Given the description of an element on the screen output the (x, y) to click on. 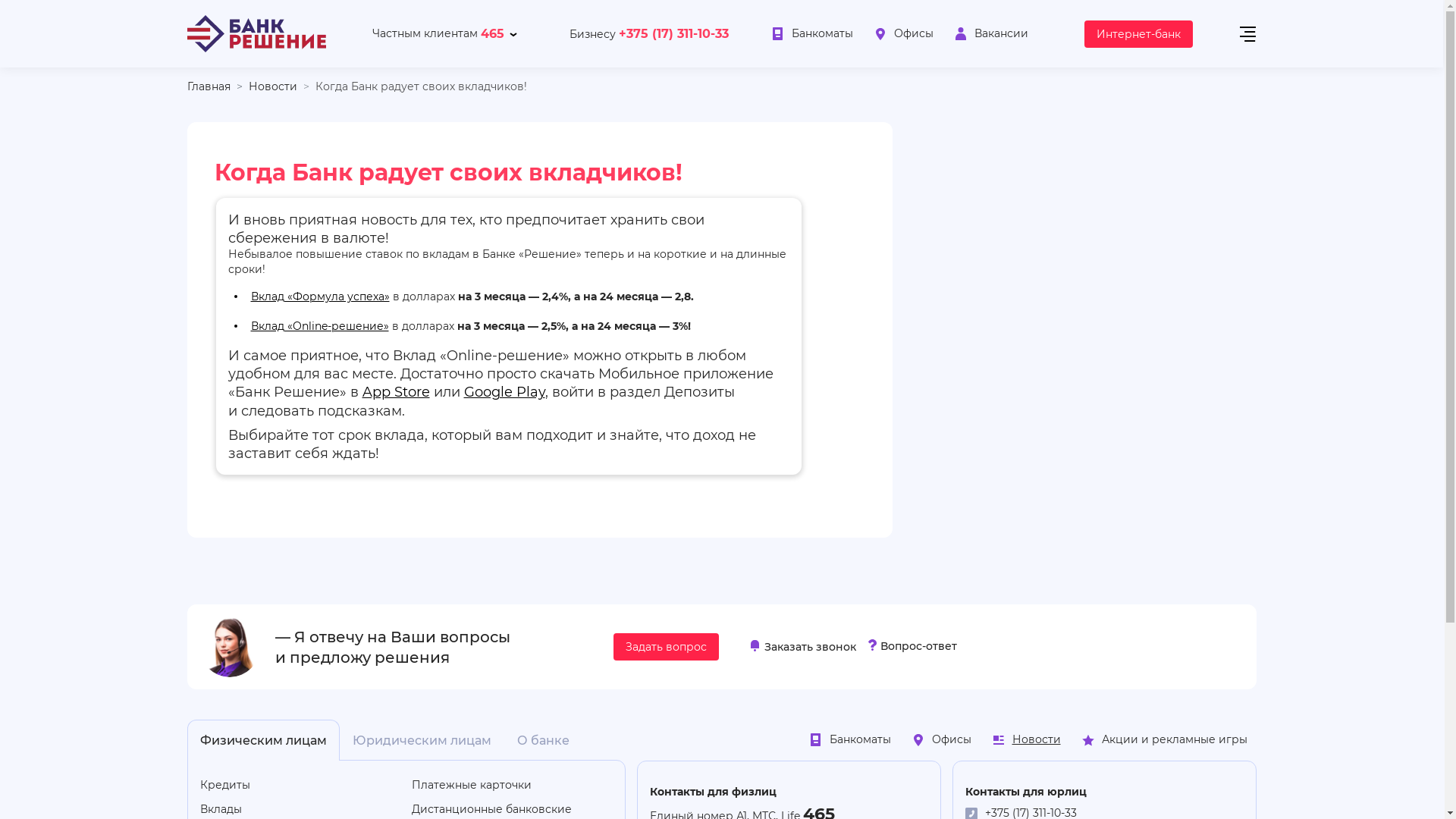
App Store Element type: text (395, 390)
+375 (17) 311-10-33 Element type: text (673, 33)
465 Element type: text (492, 33)
Google Play Element type: text (504, 390)
